Given the description of an element on the screen output the (x, y) to click on. 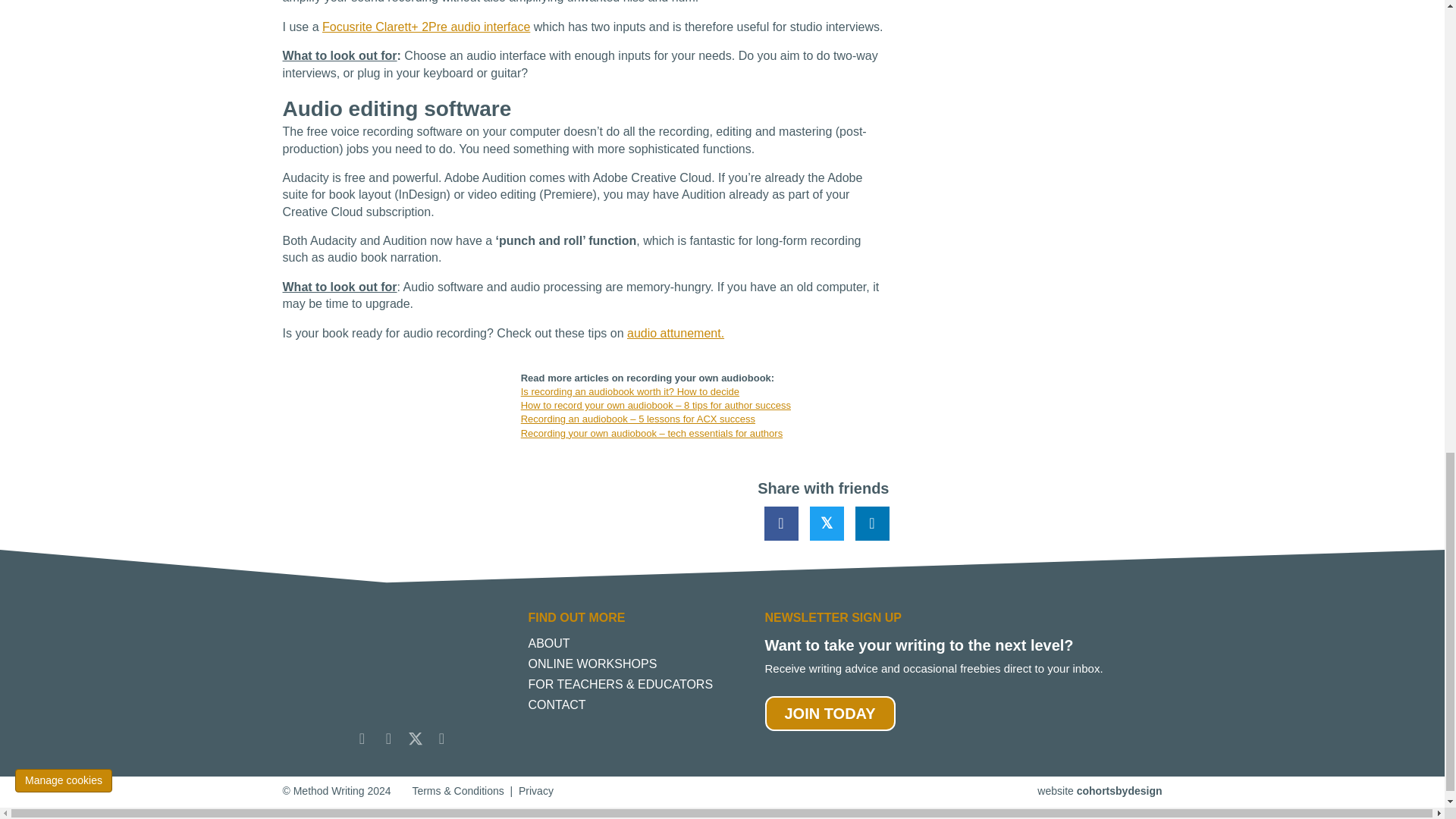
ONLINE WORKSHOPS (630, 668)
method writing (376, 674)
Is recording an audiobook worth it? How to decide (630, 391)
YouTube (440, 738)
ABOUT (630, 647)
audio attunement. (675, 332)
Facebook (388, 738)
LinkedIn (362, 738)
